Given the description of an element on the screen output the (x, y) to click on. 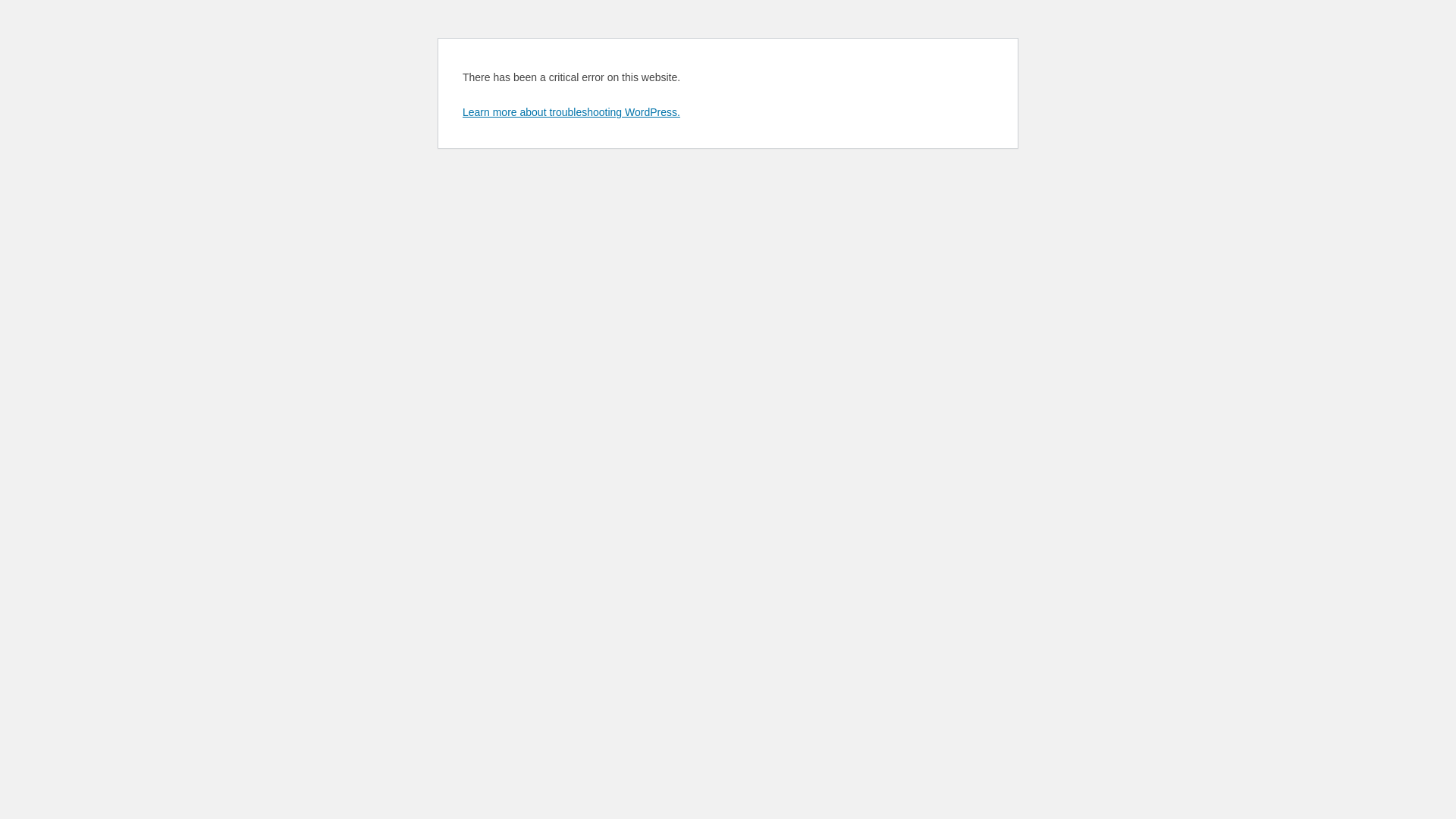
Learn more about troubleshooting WordPress. Element type: text (571, 112)
